Given the description of an element on the screen output the (x, y) to click on. 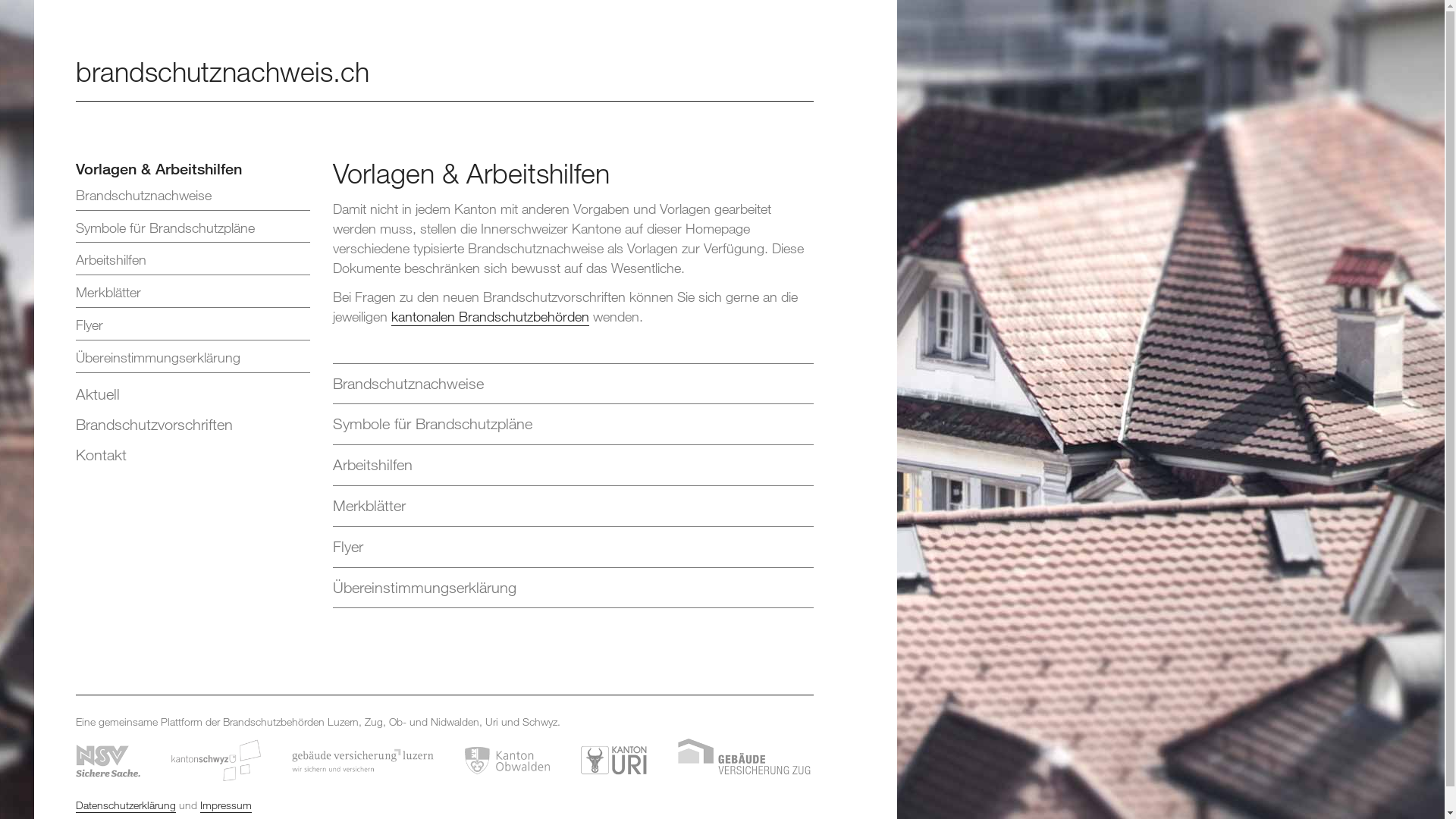
Flyer Element type: text (572, 547)
Brandschutznachweise Element type: text (572, 383)
brandschutznachweis.ch Element type: text (222, 70)
Flyer Element type: text (192, 327)
Arbeitshilfen Element type: text (572, 465)
Aktuell Element type: text (192, 393)
Impressum Element type: text (225, 805)
Vorlagen & Arbeitshilfen Element type: text (192, 168)
Brandschutznachweise Element type: text (192, 197)
Arbeitshilfen Element type: text (192, 262)
Brandschutzvorschriften Element type: text (192, 423)
Kontakt Element type: text (192, 454)
